Given the description of an element on the screen output the (x, y) to click on. 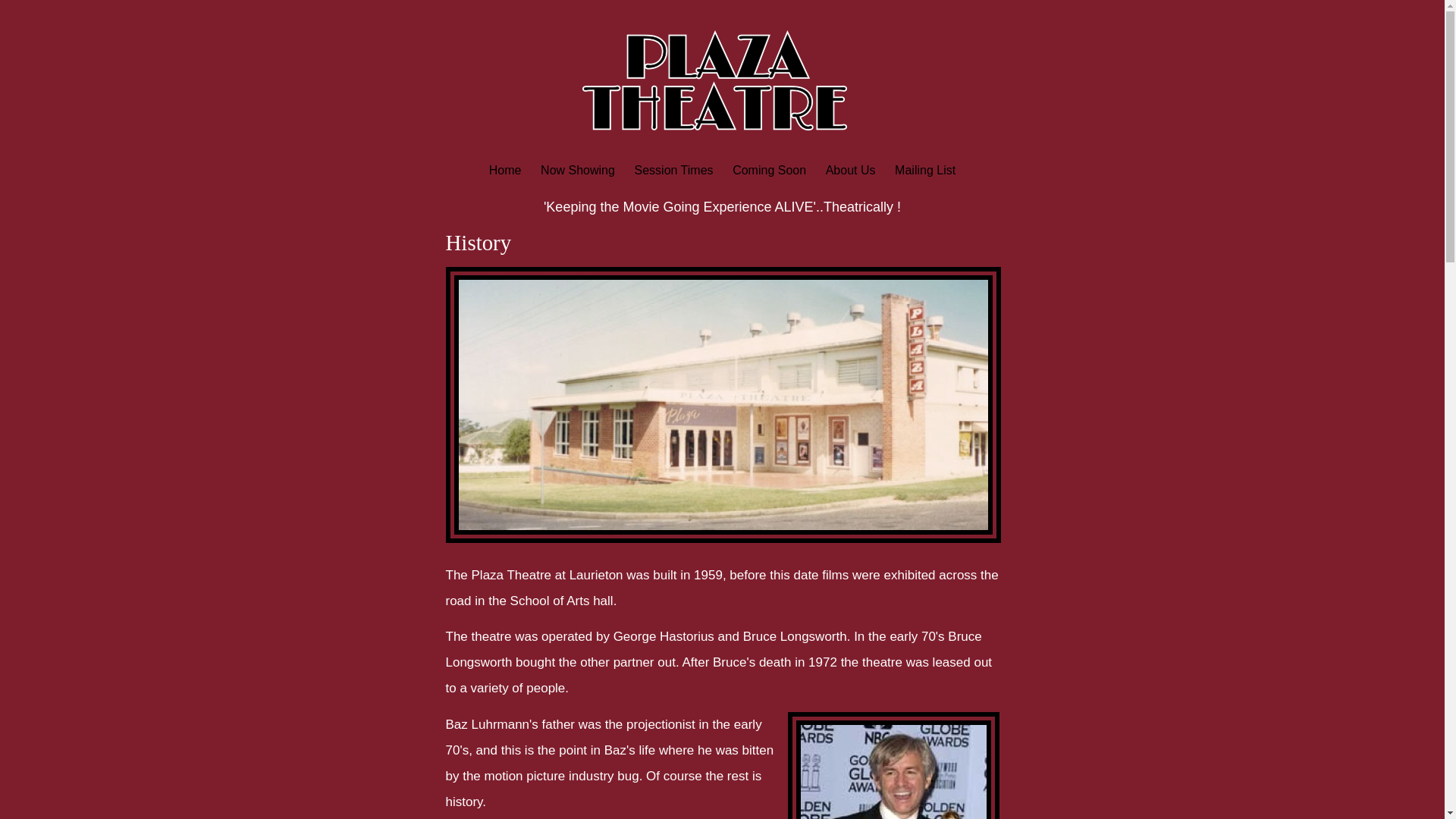
Home (505, 169)
About Us (850, 169)
Now Showing (577, 169)
Coming Soon (768, 169)
Mailing List (925, 169)
Session Times (673, 169)
